Given the description of an element on the screen output the (x, y) to click on. 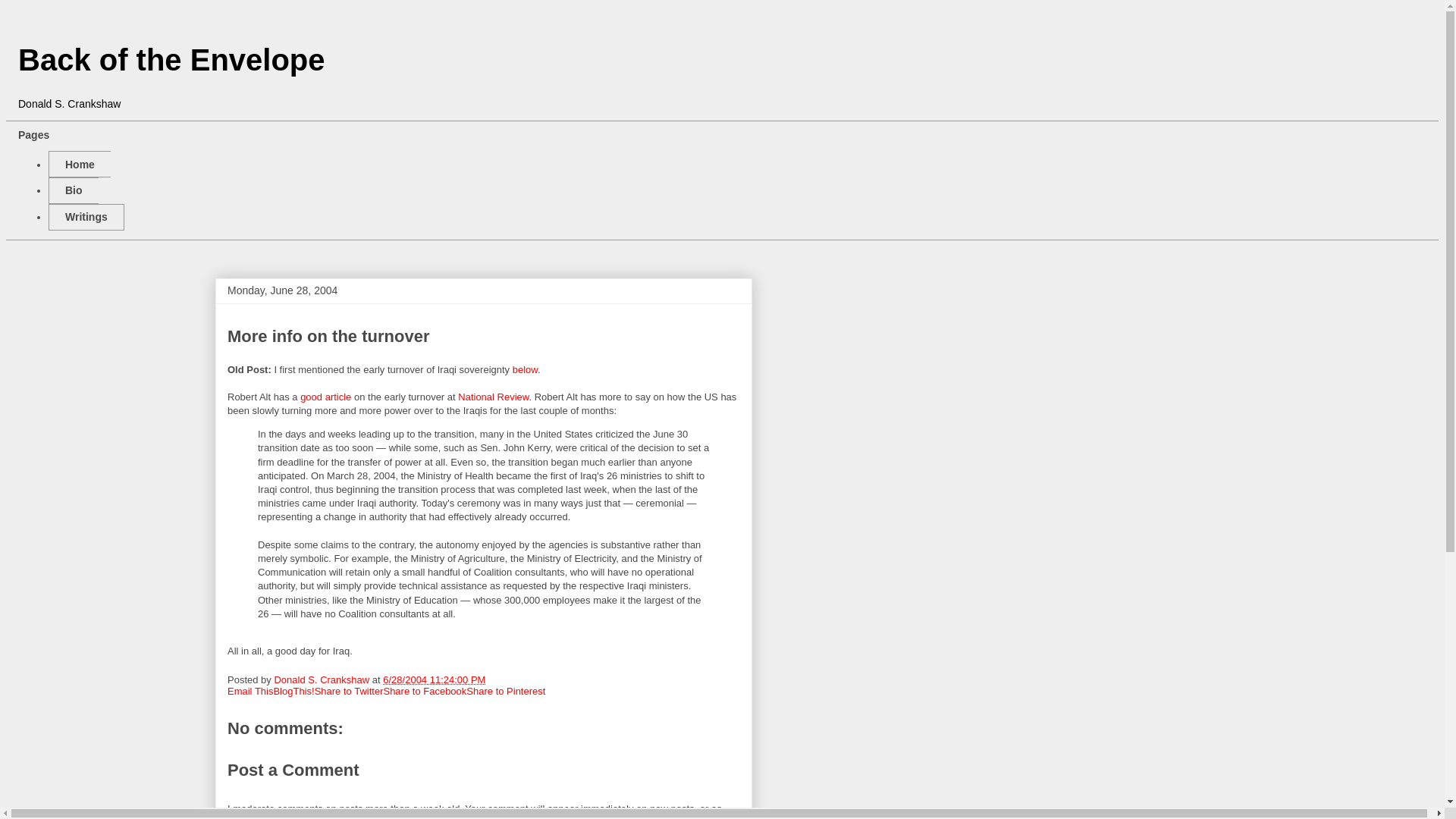
author profile (322, 679)
Share to Twitter (349, 690)
Share to Pinterest (504, 690)
Back of the Envelope (170, 59)
BlogThis! (293, 690)
Share to Facebook (423, 690)
Email Post (494, 679)
Donald S. Crankshaw (322, 679)
permanent link (433, 679)
Email This (250, 690)
Bio (73, 190)
Writings (85, 216)
Share to Facebook (423, 690)
Home (79, 163)
Email This (250, 690)
